Given the description of an element on the screen output the (x, y) to click on. 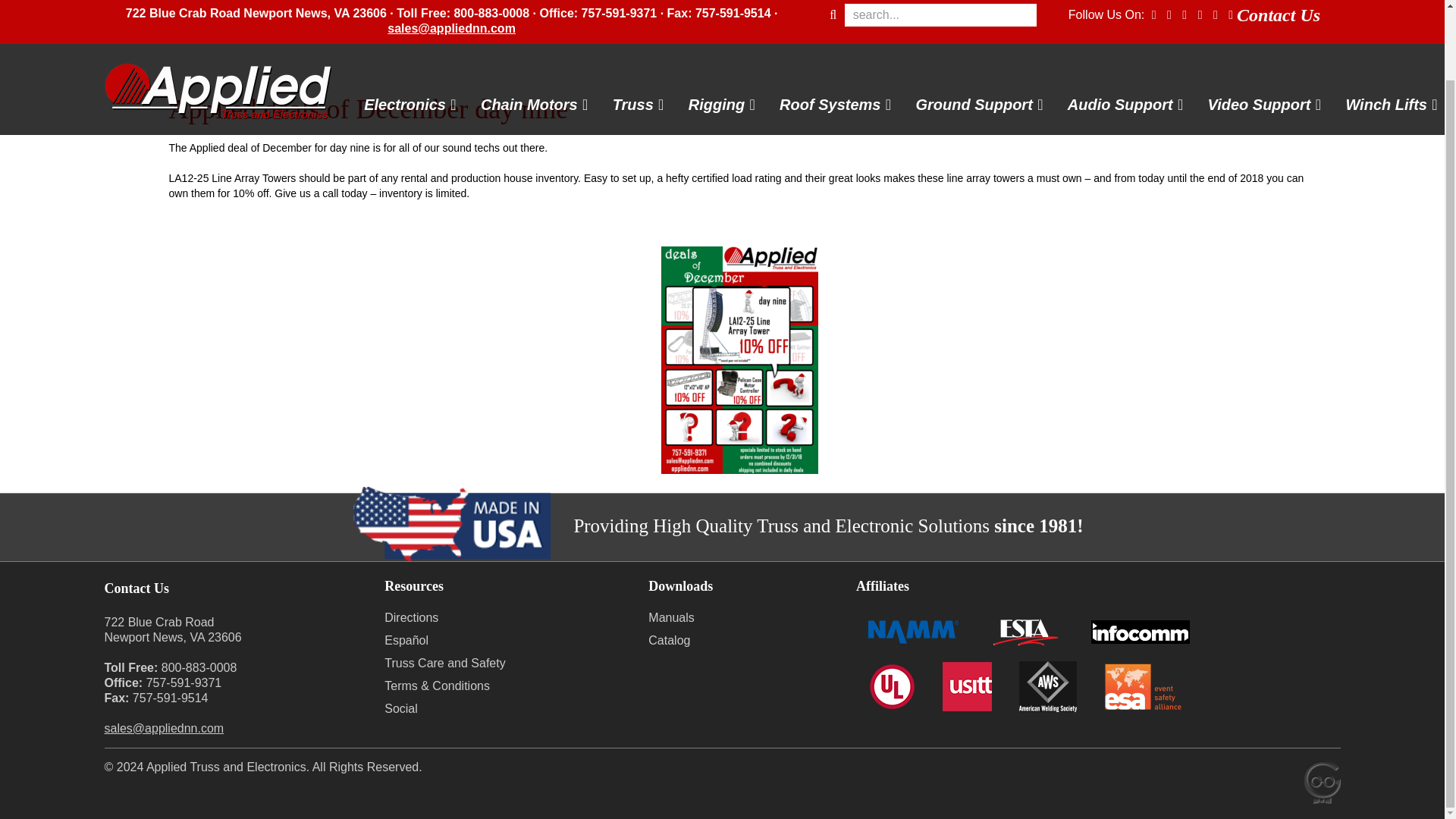
Email Us! (164, 727)
Electronics (404, 28)
Rigging (716, 28)
Roof Systems (829, 28)
Truss (633, 28)
Chain Motors (529, 28)
